Given the description of an element on the screen output the (x, y) to click on. 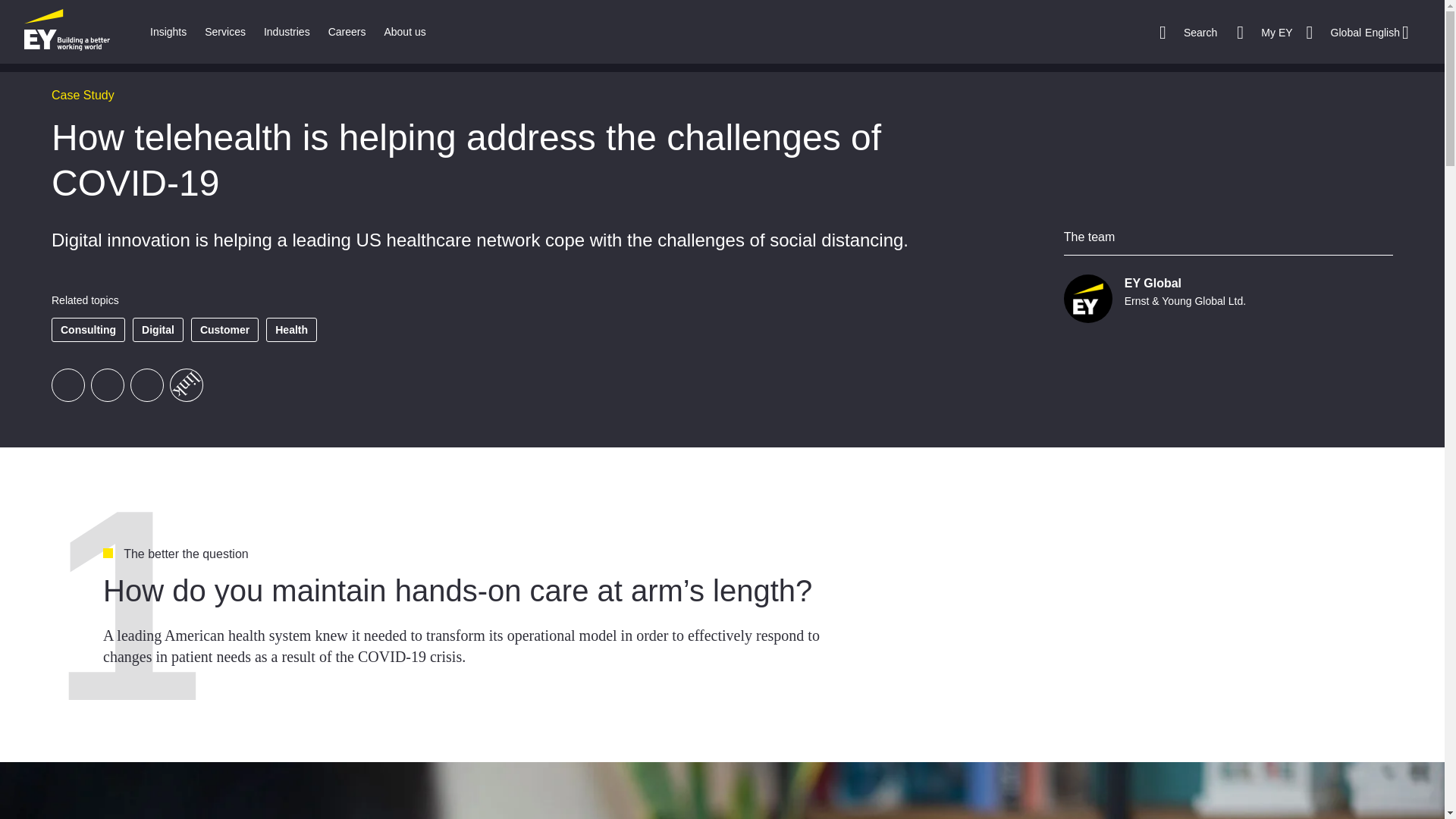
Twitter (106, 385)
Facebook (67, 385)
LinkedIn (147, 385)
Open search (1188, 32)
Copy (179, 377)
Open country language switcher (1362, 32)
My EY (1264, 32)
EY Logo (67, 32)
EY Logo (67, 32)
